Given the description of an element on the screen output the (x, y) to click on. 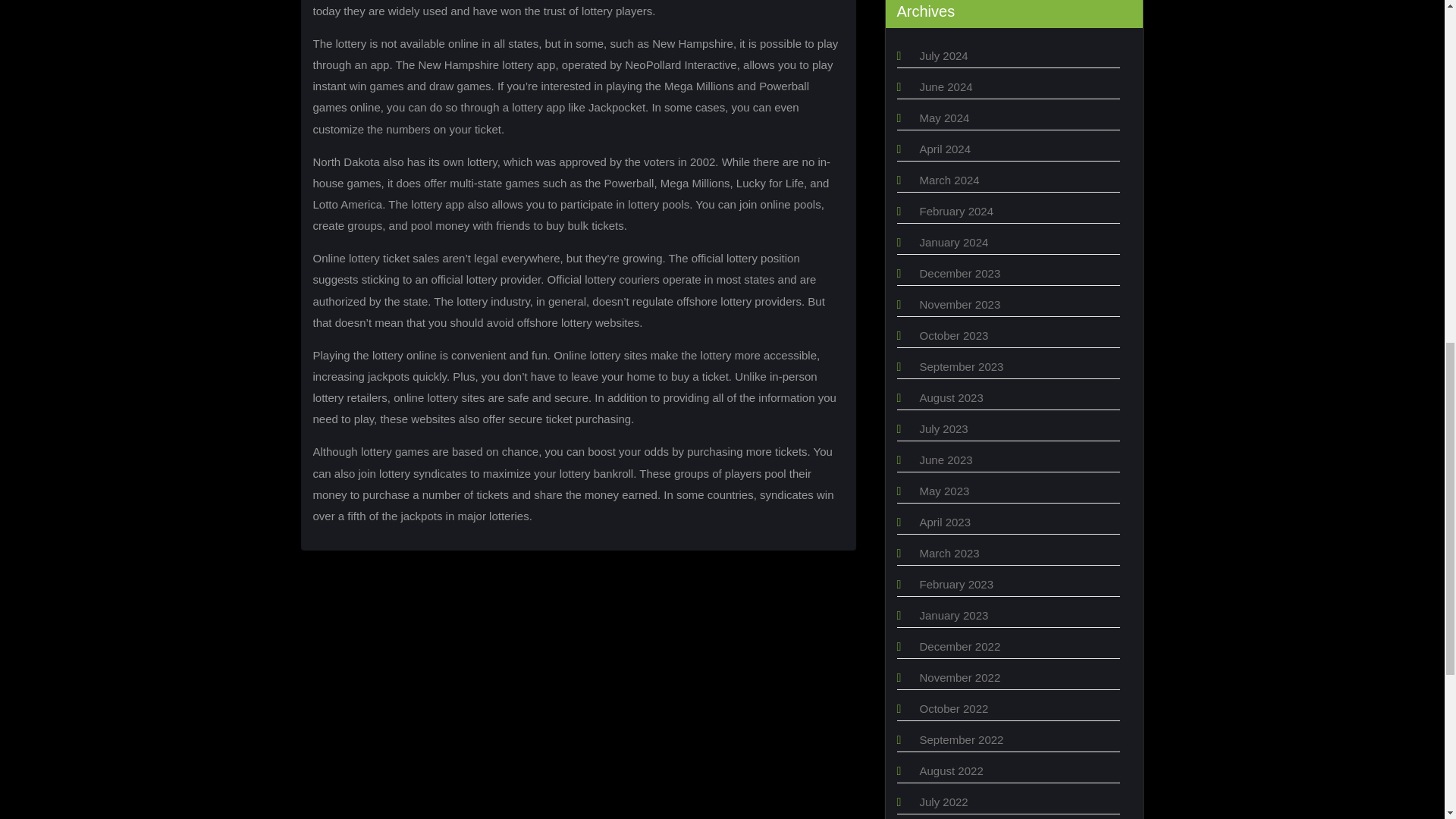
August 2023 (950, 397)
February 2024 (955, 210)
April 2024 (944, 148)
July 2023 (943, 428)
September 2022 (960, 739)
March 2023 (948, 553)
November 2023 (959, 304)
January 2024 (953, 241)
June 2024 (945, 86)
January 2023 (953, 615)
